Given the description of an element on the screen output the (x, y) to click on. 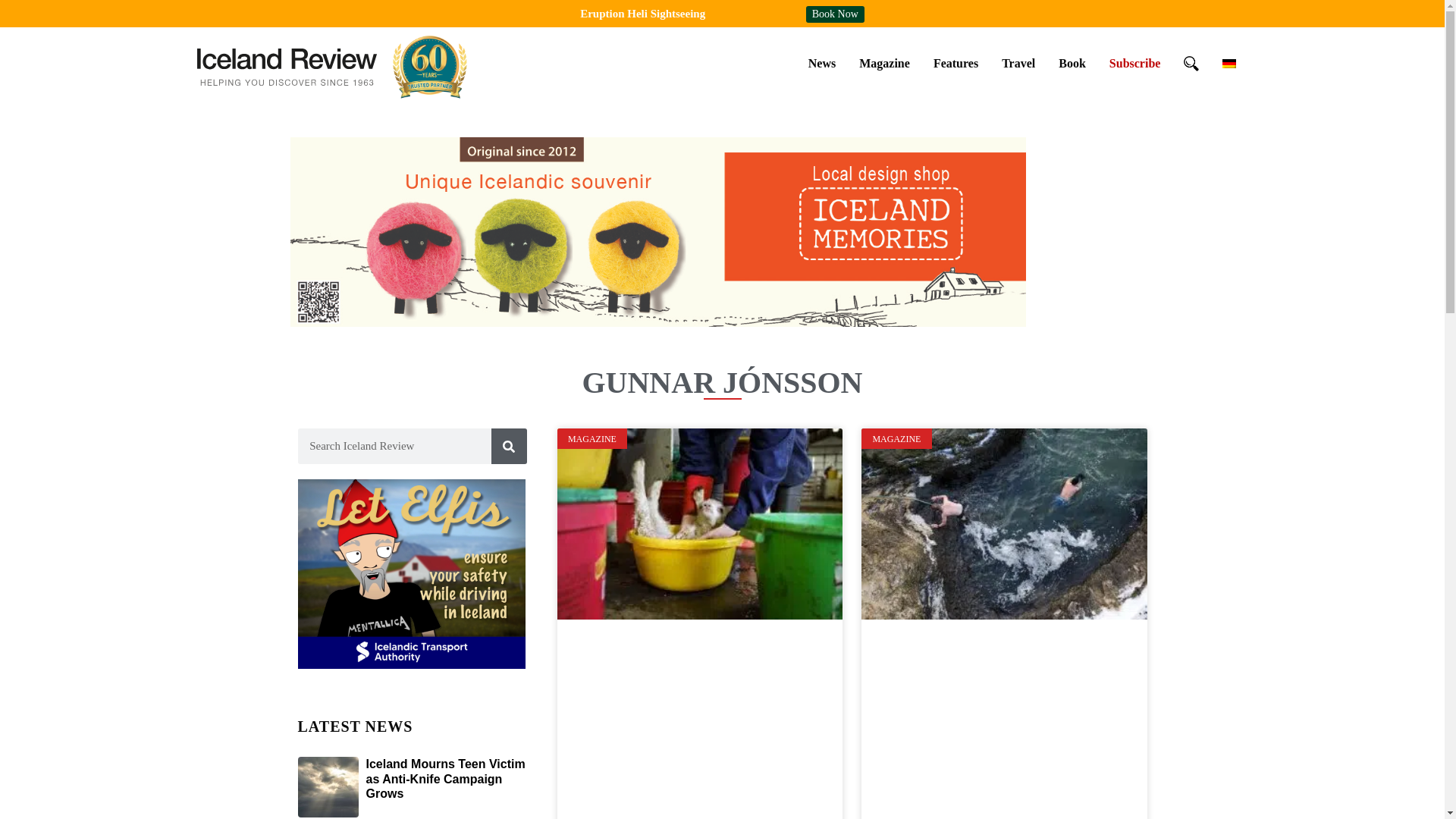
Subscribe (1134, 63)
Magazine (884, 63)
Iceland Mourns Teen Victim as Anti-Knife Campaign Grows (444, 778)
Eruption Heli Sightseeing (641, 13)
Features (955, 63)
Travel (1018, 63)
Book (1071, 63)
Book Now (835, 13)
News (821, 63)
